Given the description of an element on the screen output the (x, y) to click on. 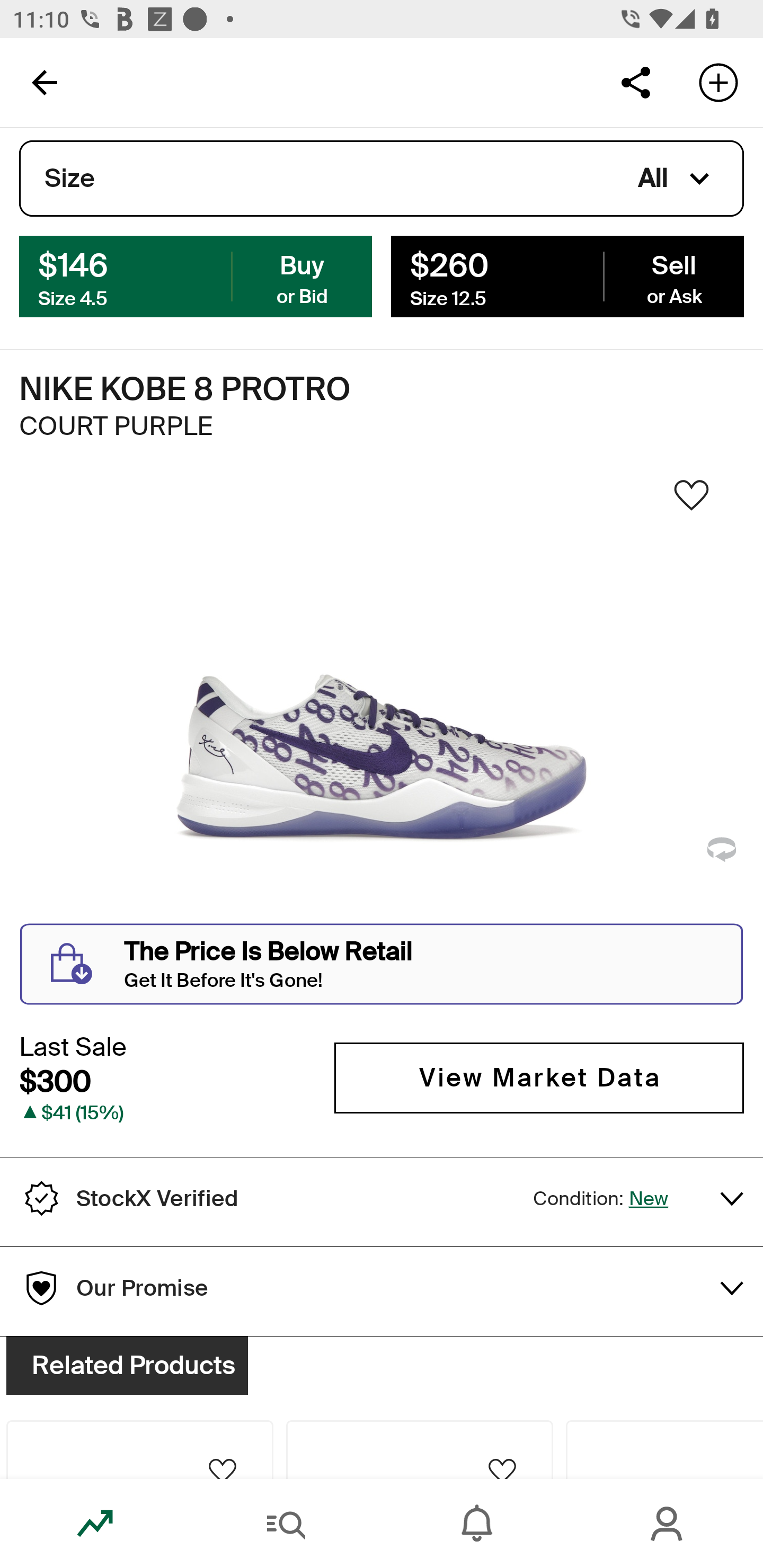
Share (635, 81)
Add (718, 81)
Size All (381, 178)
$146 Buy Size 4.5 or Bid (195, 275)
$260 Sell Size 12.5 or Ask (566, 275)
Sneaker Image (381, 699)
View Market Data (538, 1077)
Search (285, 1523)
Inbox (476, 1523)
Account (667, 1523)
